Given the description of an element on the screen output the (x, y) to click on. 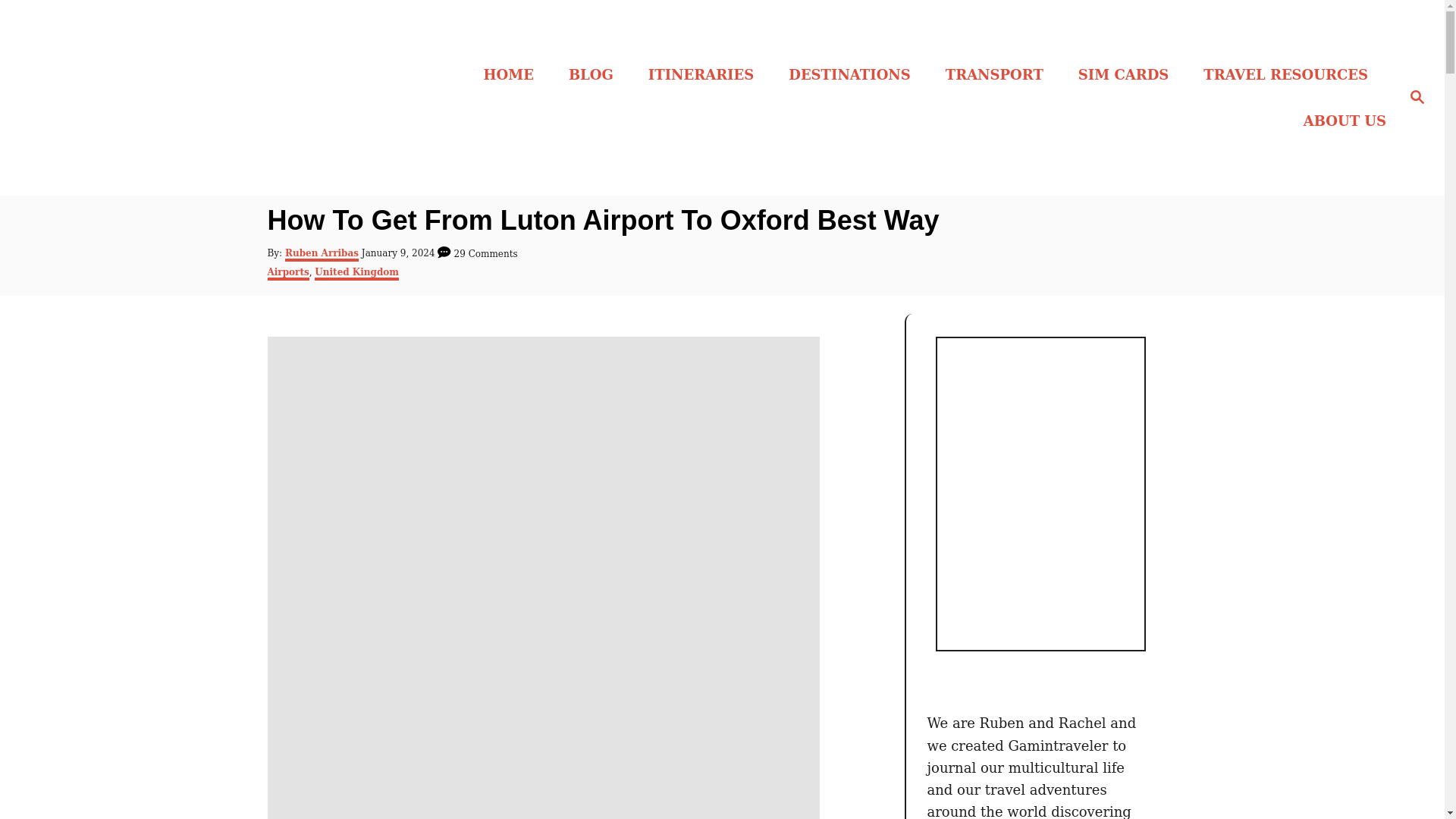
Magnifying Glass (1416, 96)
DESTINATIONS (853, 74)
ITINERARIES (705, 74)
BLOG (595, 74)
Gamintraveler (204, 97)
HOME (512, 74)
